Given the description of an element on the screen output the (x, y) to click on. 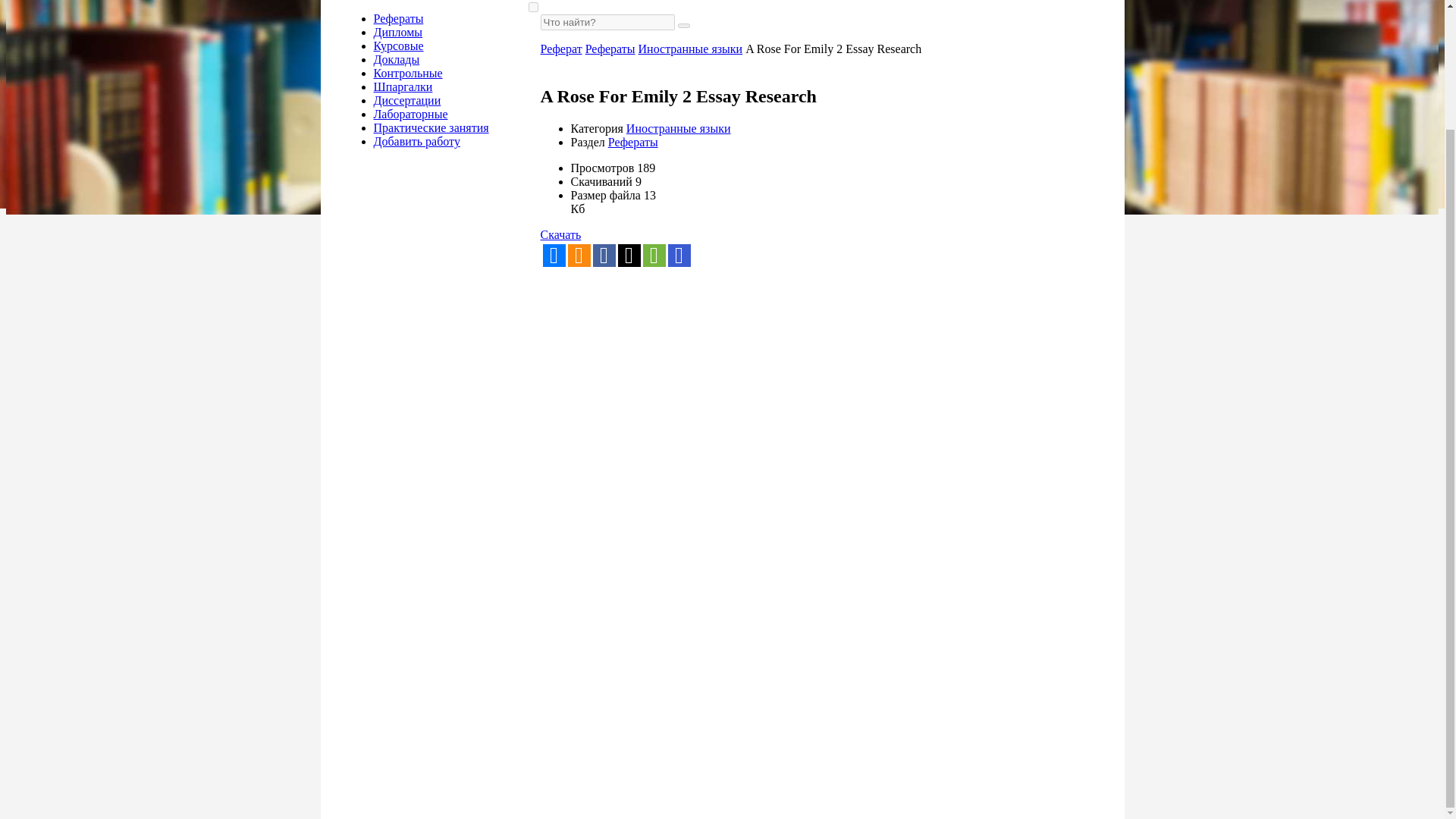
on (532, 7)
